Given the description of an element on the screen output the (x, y) to click on. 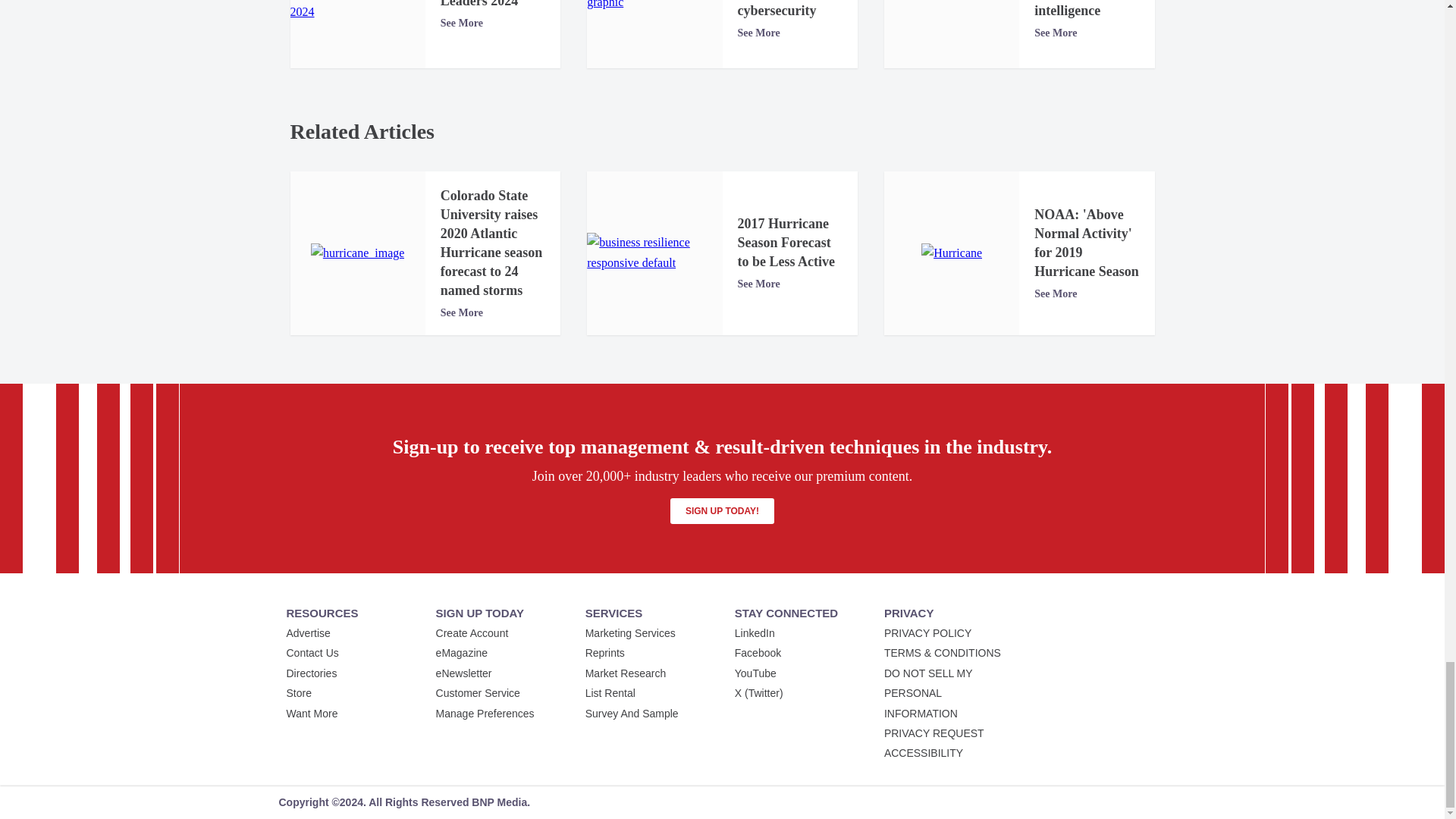
Hurricane (951, 252)
business resilience responsive default (654, 252)
Security's Top Cybersecurity Leaders 2024 (357, 11)
cyber brain (951, 1)
Artificial Intelligence (654, 6)
